Given the description of an element on the screen output the (x, y) to click on. 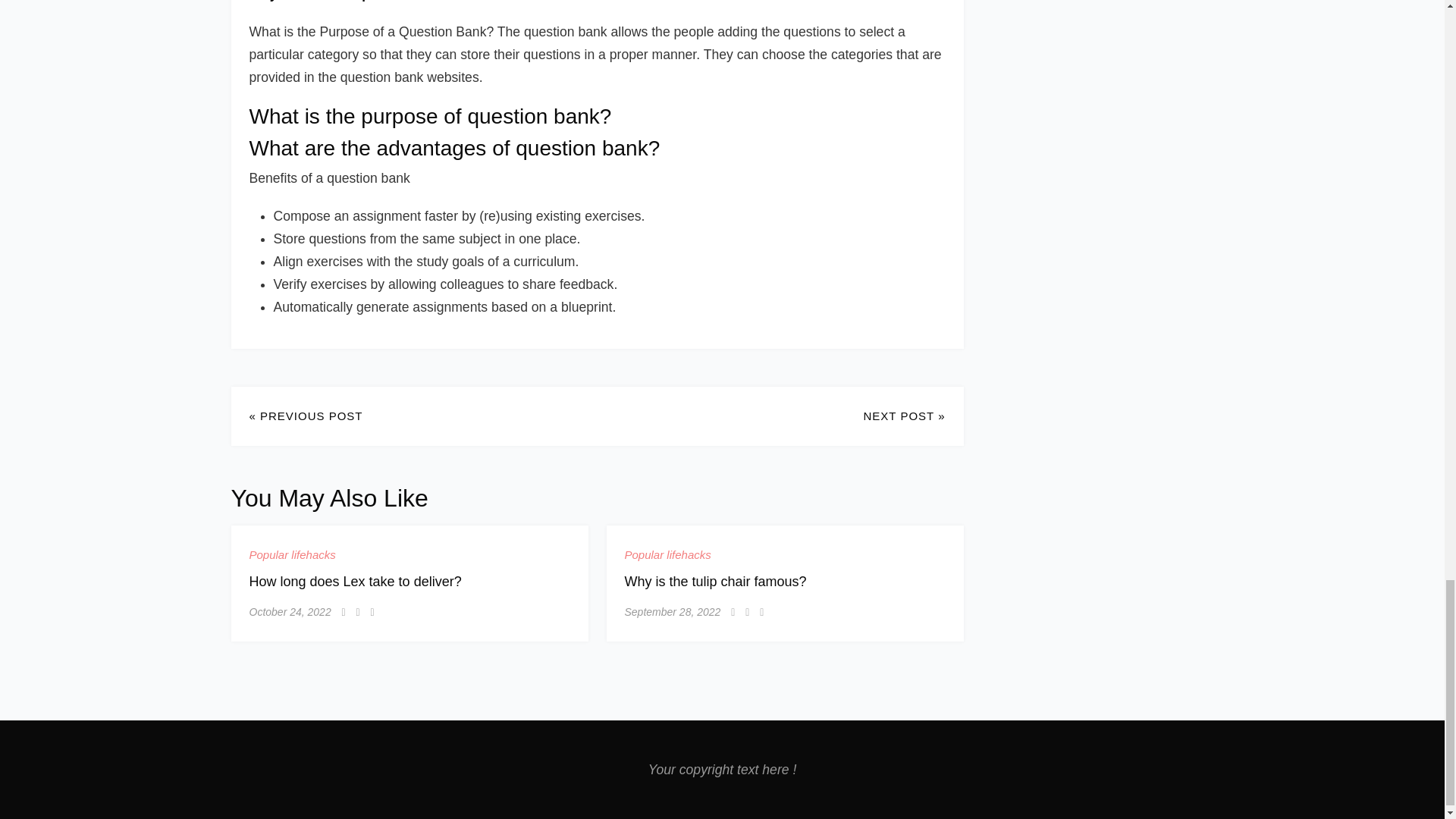
How long does Lex take to deliver? (354, 581)
Popular lifehacks (291, 554)
October 24, 2022 (289, 611)
